Given the description of an element on the screen output the (x, y) to click on. 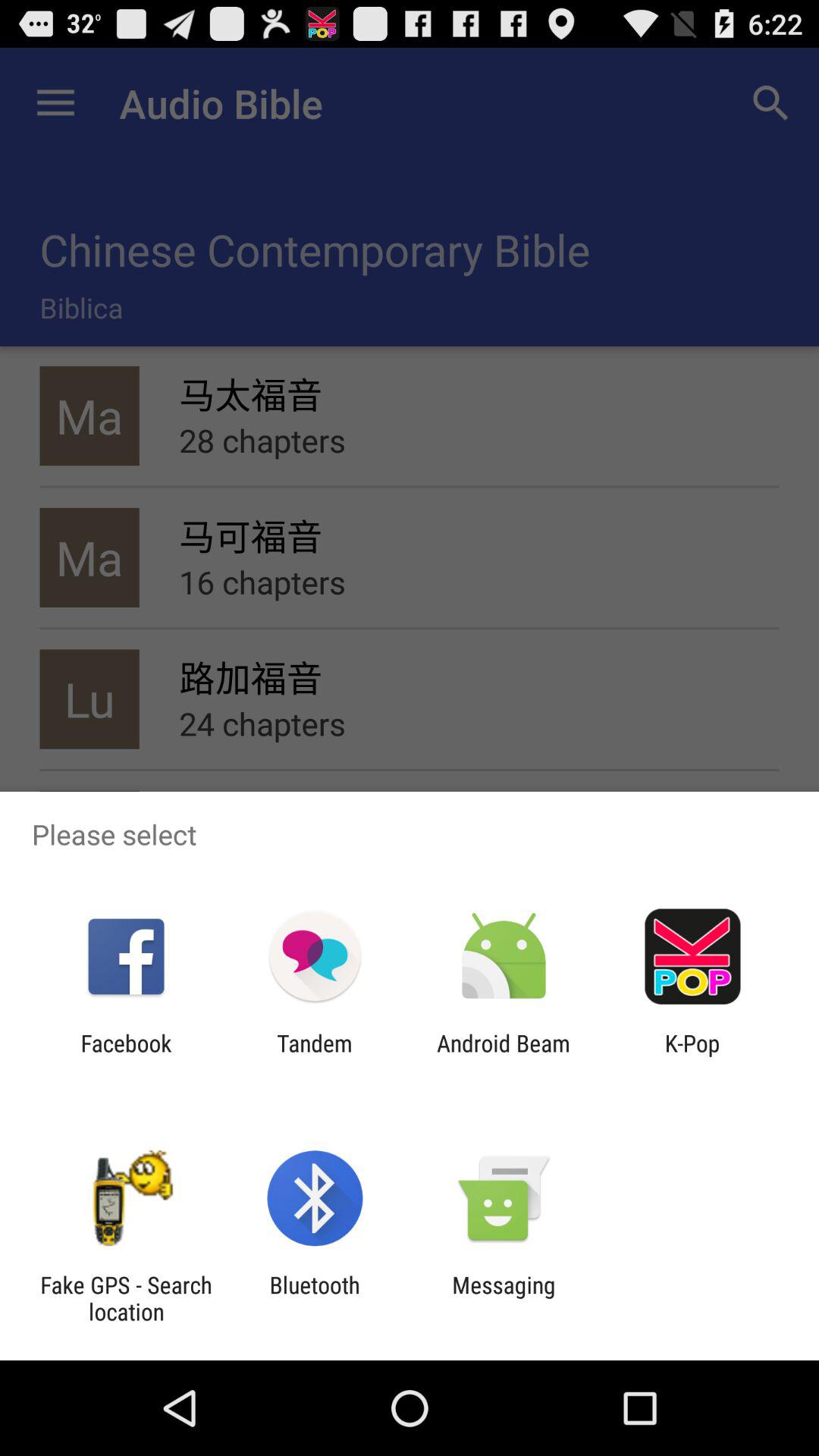
choose app to the right of the facebook (314, 1056)
